Given the description of an element on the screen output the (x, y) to click on. 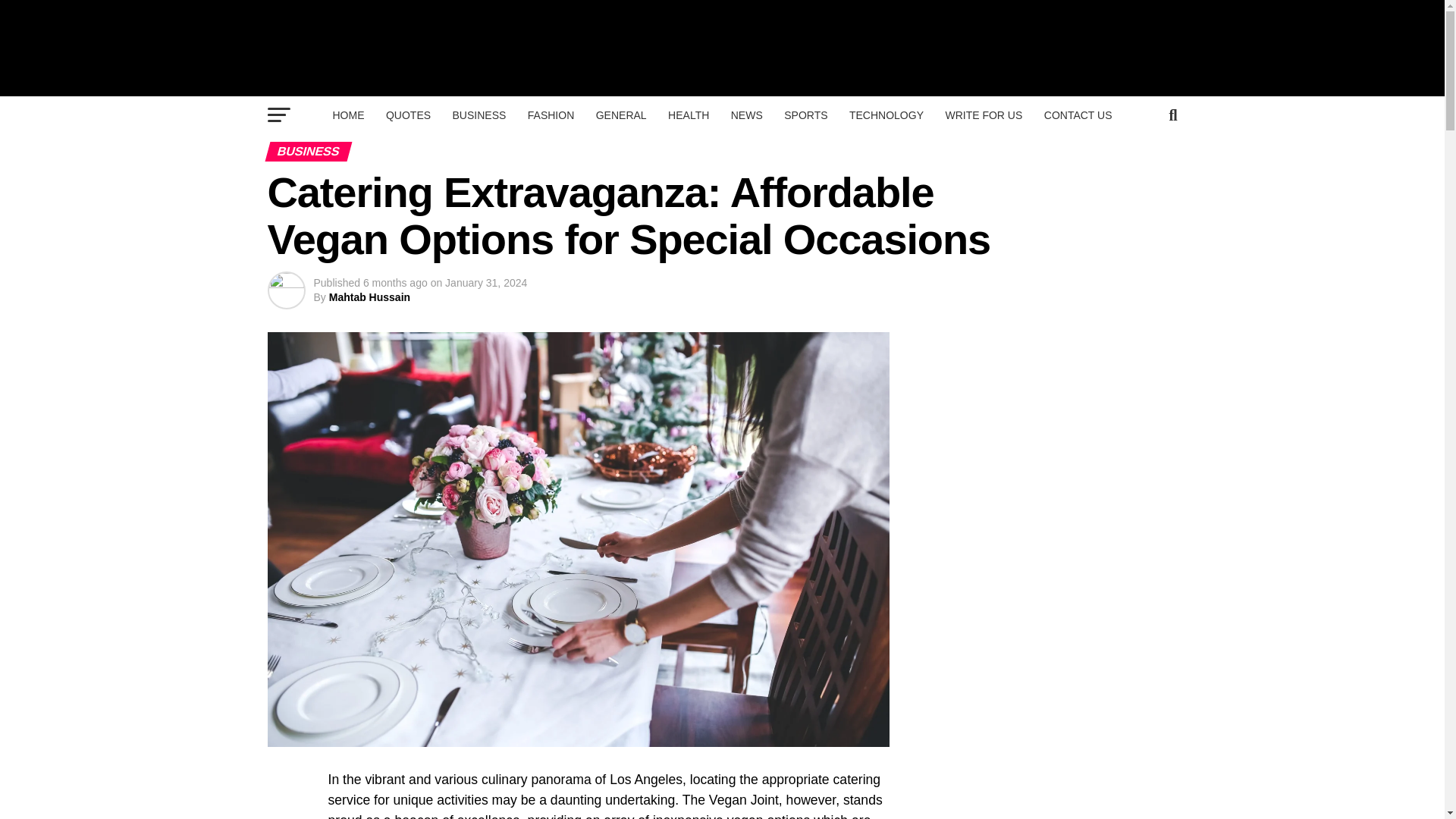
GENERAL (621, 115)
HEALTH (688, 115)
BUSINESS (479, 115)
FASHION (550, 115)
QUOTES (408, 115)
HOME (347, 115)
